Given the description of an element on the screen output the (x, y) to click on. 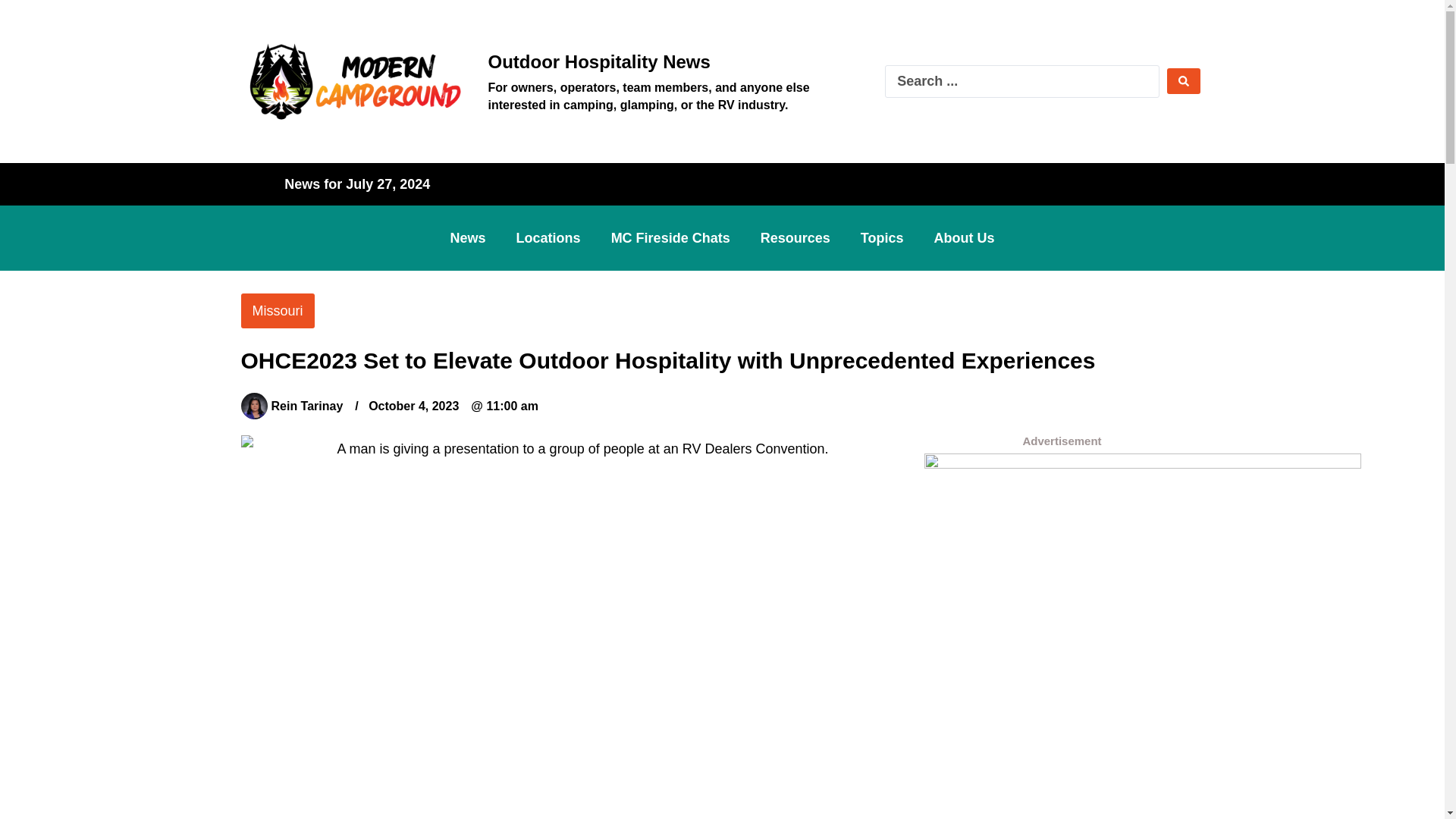
Resources (795, 237)
Locations (547, 237)
News (467, 237)
MC Fireside Chats (670, 237)
